Given the description of an element on the screen output the (x, y) to click on. 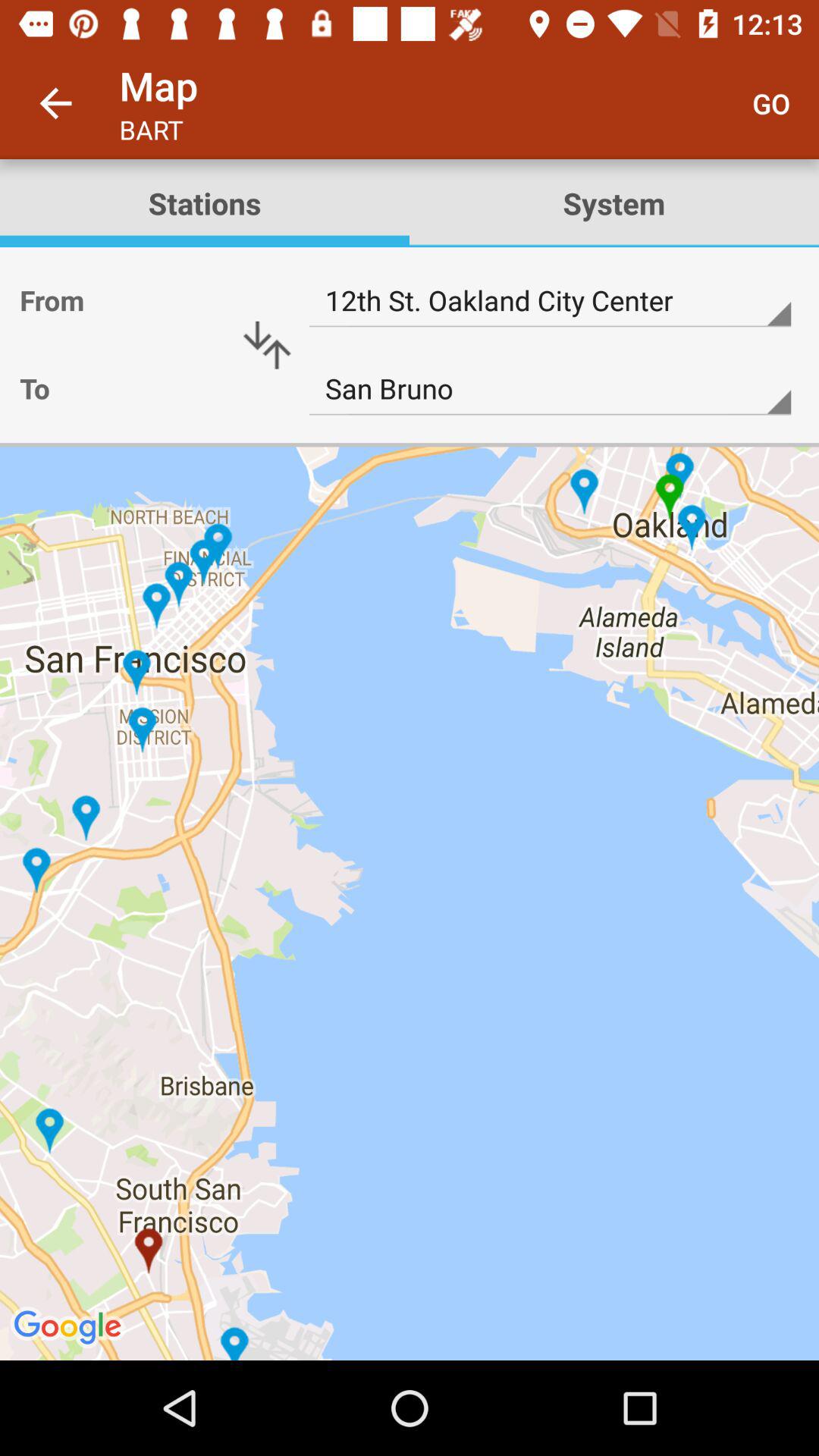
tap icon next to the map (55, 103)
